Given the description of an element on the screen output the (x, y) to click on. 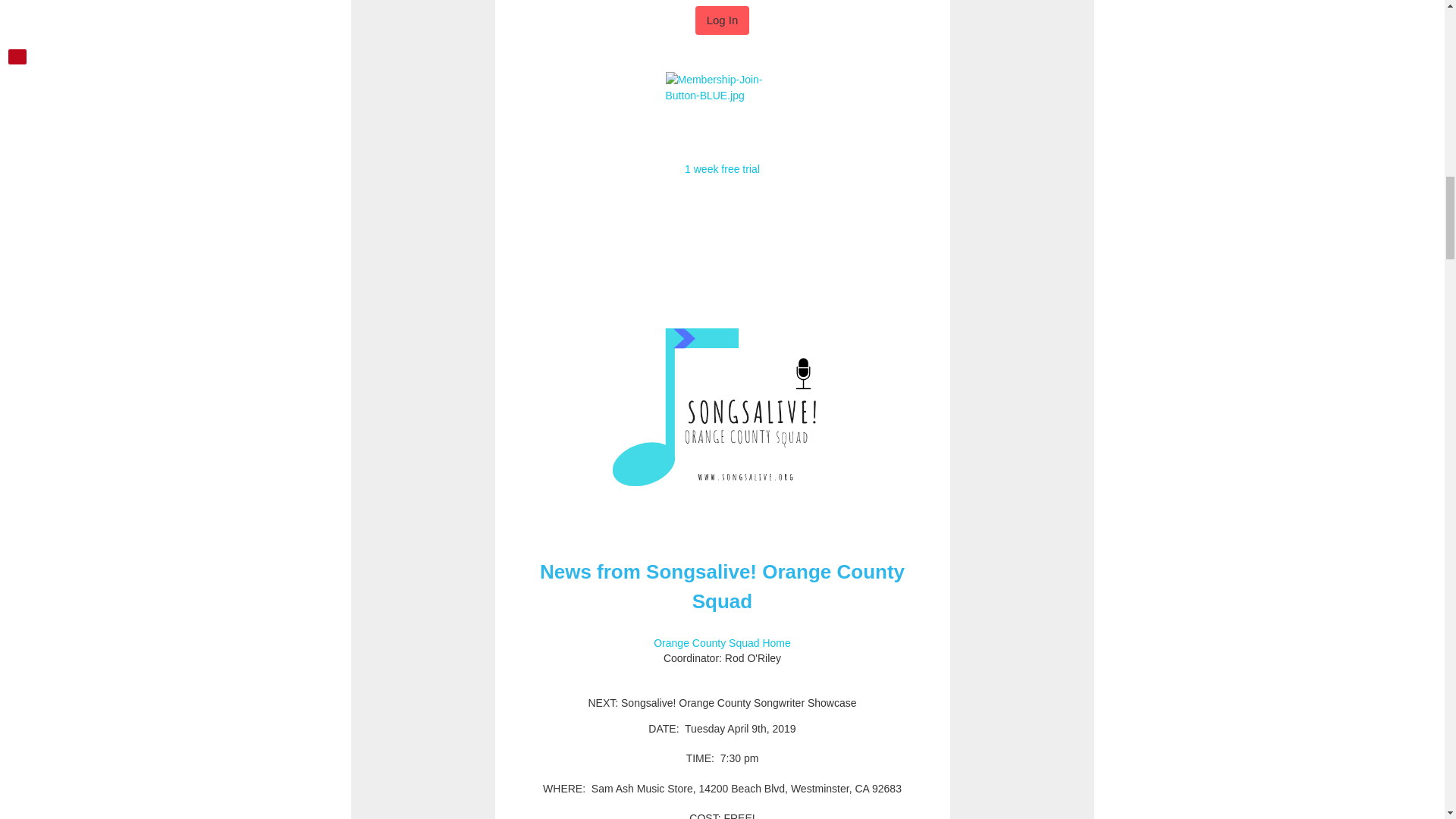
1 week free trial (722, 168)
Log In (722, 19)
Orange County Squad Home (721, 643)
